Given the description of an element on the screen output the (x, y) to click on. 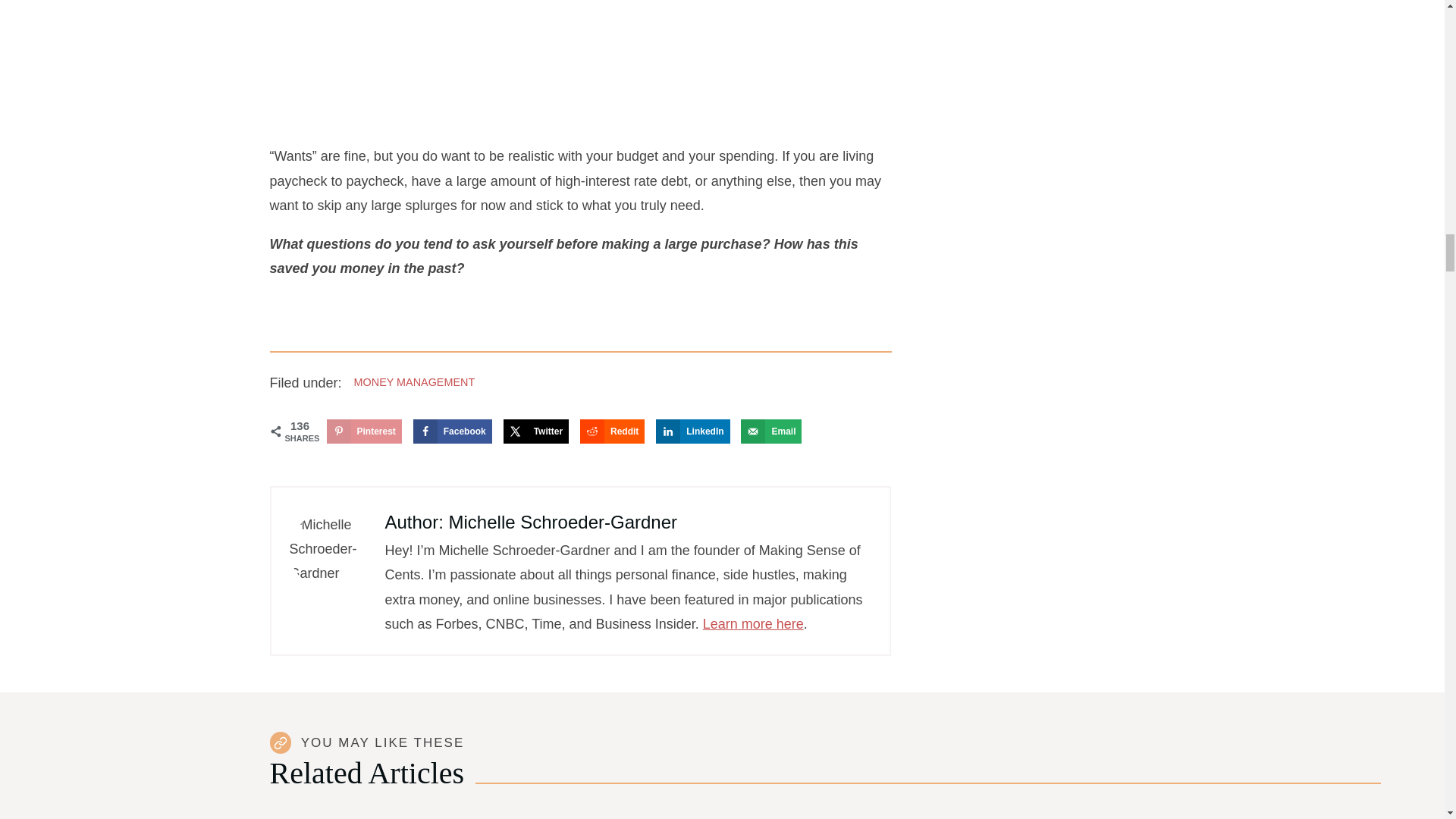
LinkedIn (692, 431)
Share on X (536, 431)
MONEY MANAGEMENT (414, 381)
Learn more here (753, 623)
Share on Reddit (612, 431)
Send over email (771, 431)
Share on LinkedIn (692, 431)
Facebook (452, 431)
Share on Facebook (452, 431)
Save to Pinterest (363, 431)
